Given the description of an element on the screen output the (x, y) to click on. 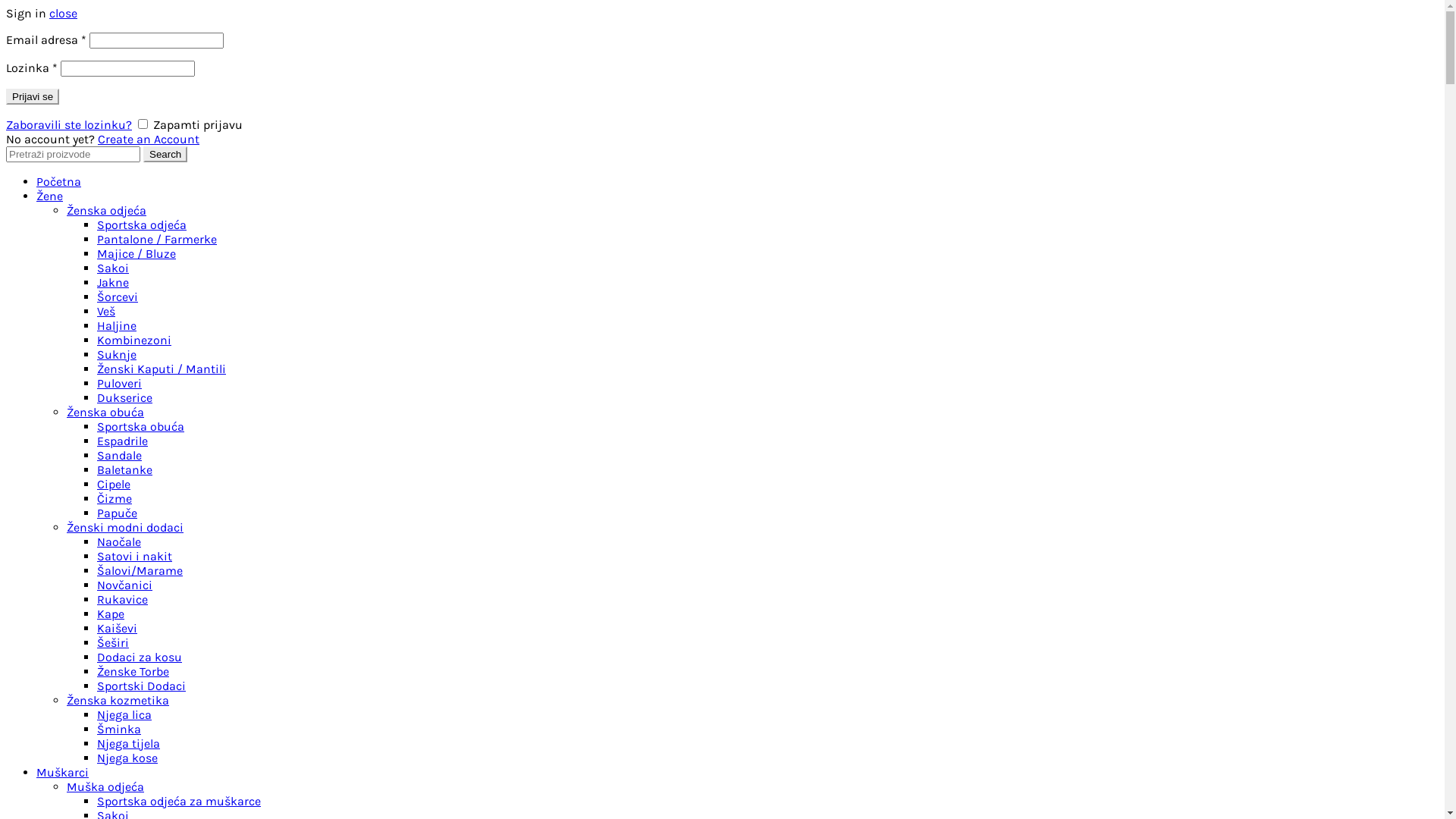
close Element type: text (63, 13)
Njega tijela Element type: text (128, 743)
Zaboravili ste lozinku? Element type: text (68, 124)
Baletanke Element type: text (124, 469)
Majice / Bluze Element type: text (136, 253)
Puloveri Element type: text (119, 383)
Njega lica Element type: text (124, 714)
Sportski Dodaci Element type: text (141, 685)
Create an Account Element type: text (148, 138)
Kombinezoni Element type: text (134, 339)
Dukserice Element type: text (124, 397)
Prijavi se Element type: text (32, 96)
Jakne Element type: text (112, 282)
Rukavice Element type: text (122, 599)
Suknje Element type: text (116, 354)
Cipele Element type: text (113, 483)
Sandale Element type: text (119, 455)
Search Element type: text (165, 154)
Kape Element type: text (110, 613)
Espadrile Element type: text (122, 440)
Pantalone / Farmerke Element type: text (156, 239)
Dodaci za kosu Element type: text (139, 656)
Sakoi Element type: text (112, 267)
Haljine Element type: text (116, 325)
Satovi i nakit Element type: text (134, 556)
Njega kose Element type: text (127, 757)
